Given the description of an element on the screen output the (x, y) to click on. 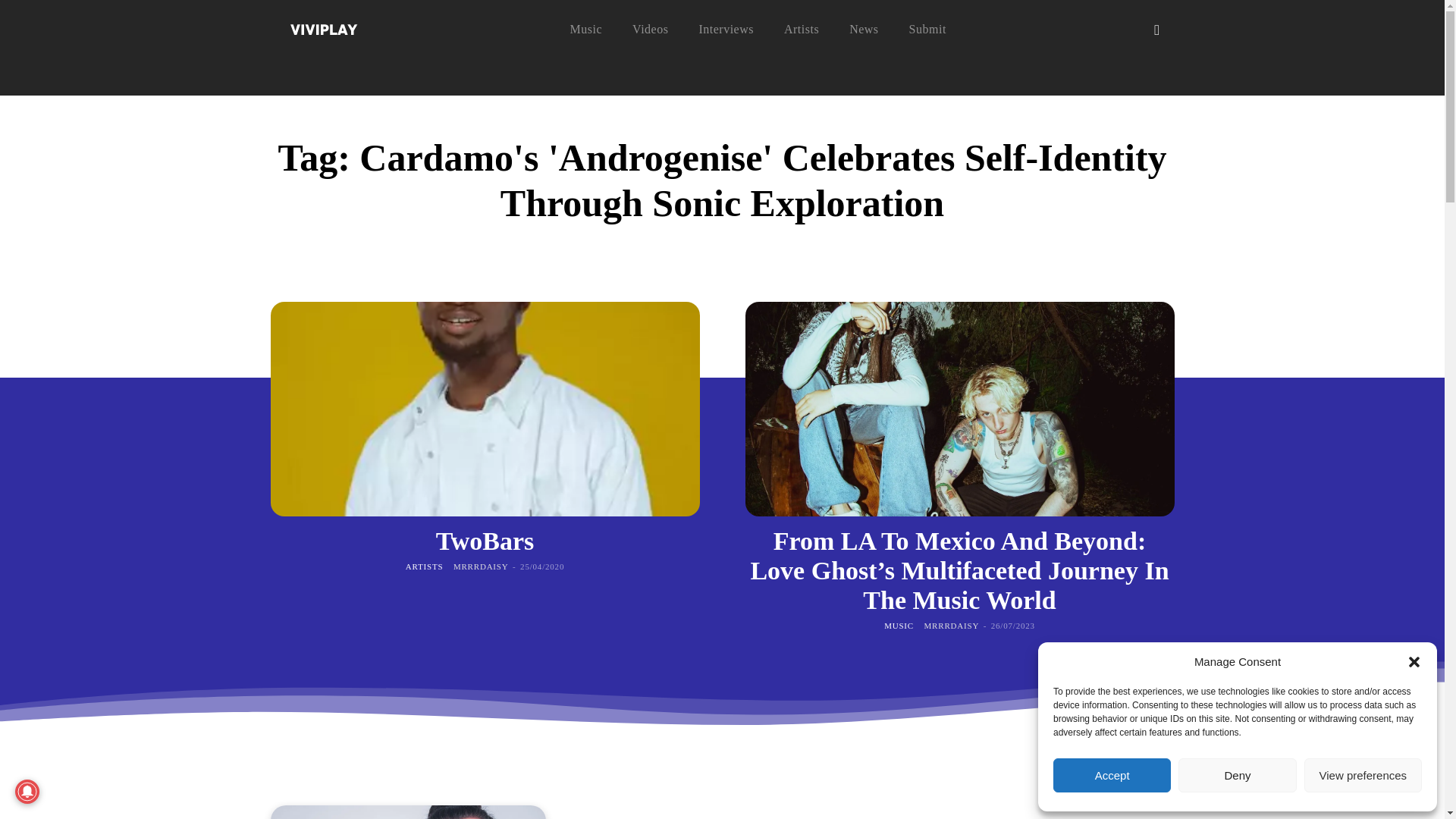
TwoBars (484, 541)
View preferences (1363, 775)
Deny (1236, 775)
Accept (1111, 775)
TwoBars (484, 541)
Artists (801, 29)
Music (586, 29)
TwoBars (483, 409)
Interviews (726, 29)
Videos (649, 29)
News (862, 29)
Submit (927, 29)
ARTISTS (425, 565)
